Given the description of an element on the screen output the (x, y) to click on. 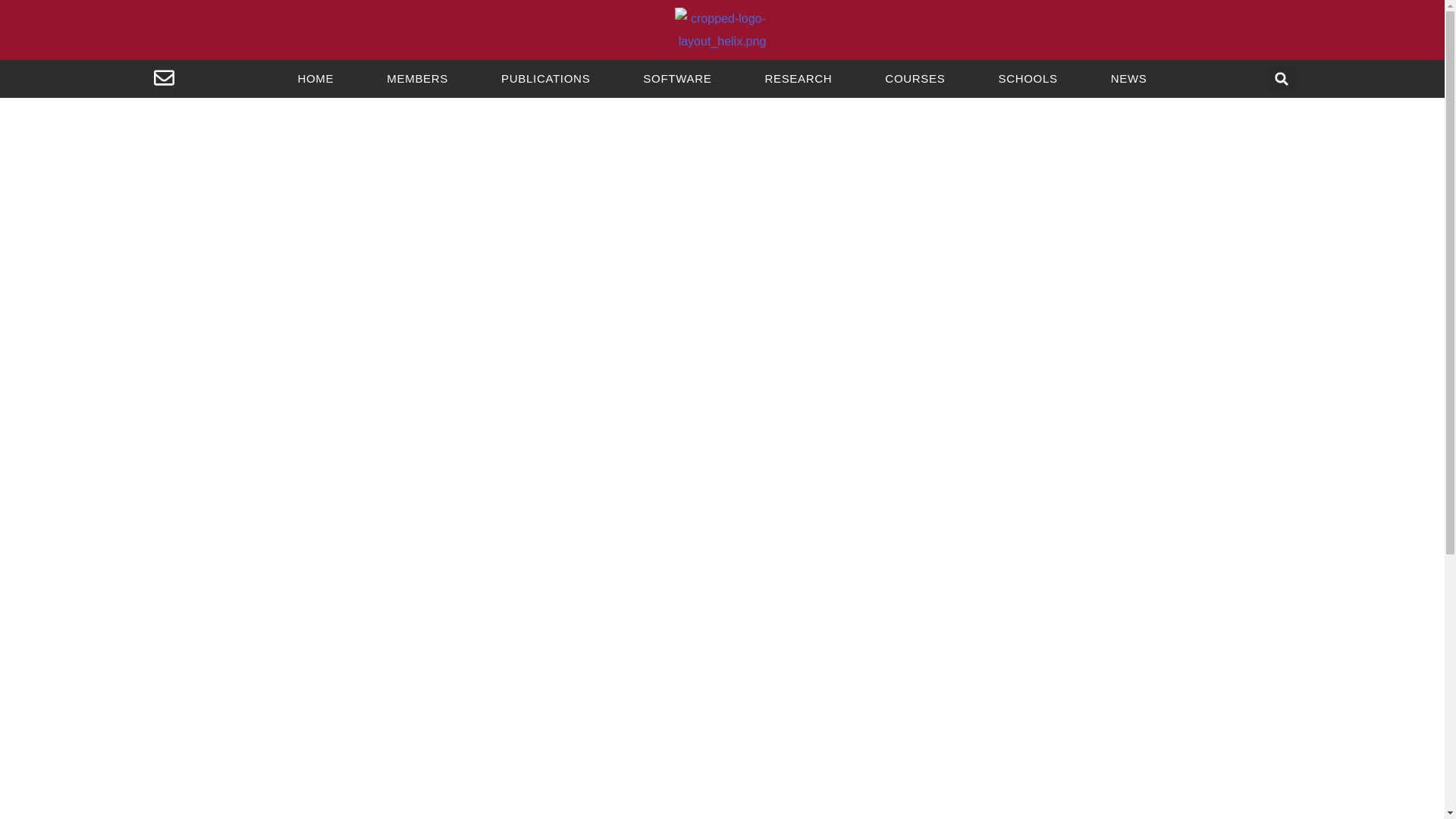
RESEARCH (797, 78)
MEMBERS (417, 78)
SCHOOLS (1027, 78)
SOFTWARE (676, 78)
Members (417, 78)
NEWS (1128, 78)
COURSES (914, 78)
HOME (315, 78)
PUBLICATIONS (545, 78)
